Given the description of an element on the screen output the (x, y) to click on. 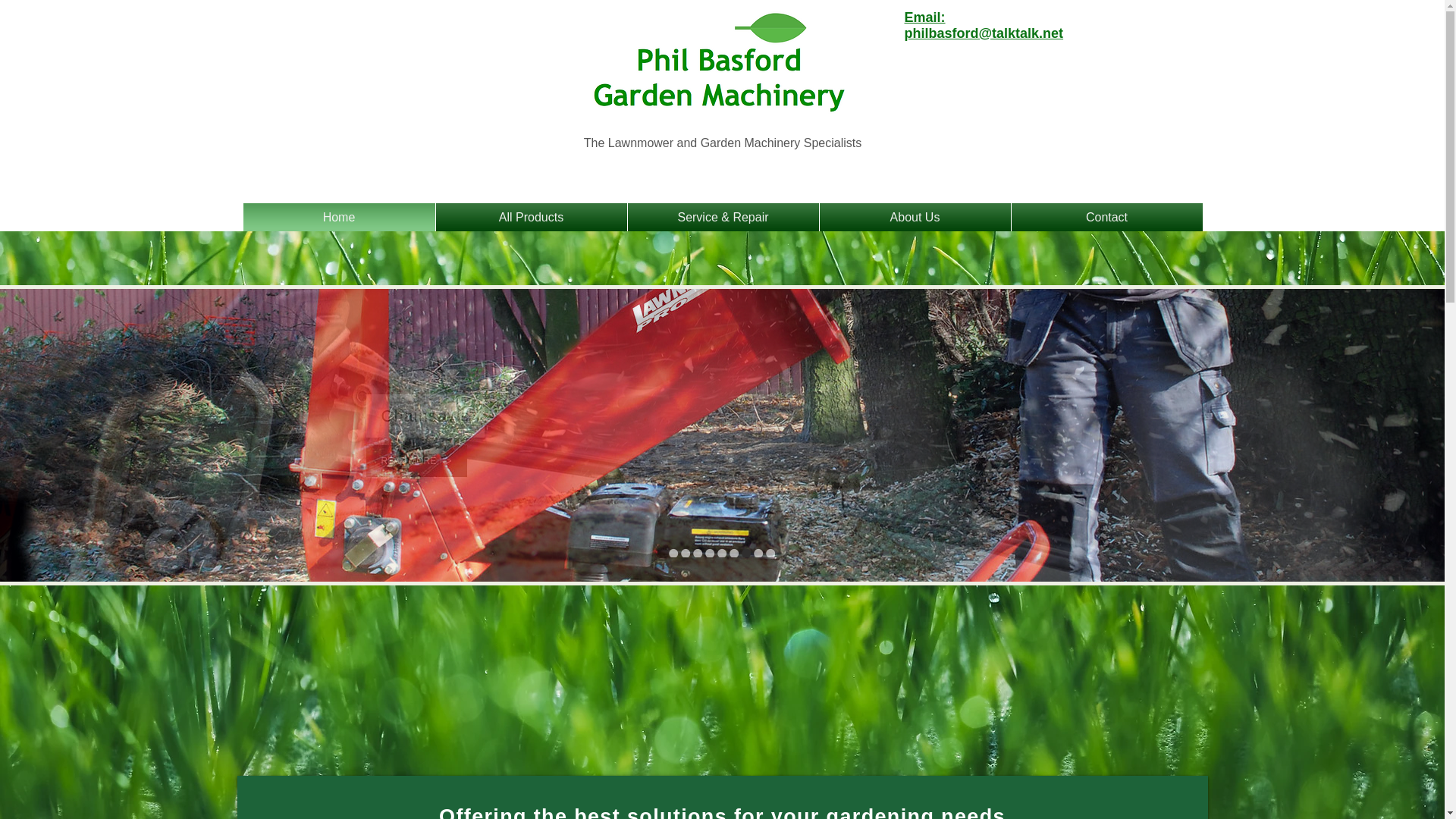
About Us (914, 216)
Twitter Follow (1064, 73)
Home (338, 216)
Contact (1106, 216)
All Products (530, 216)
